Given the description of an element on the screen output the (x, y) to click on. 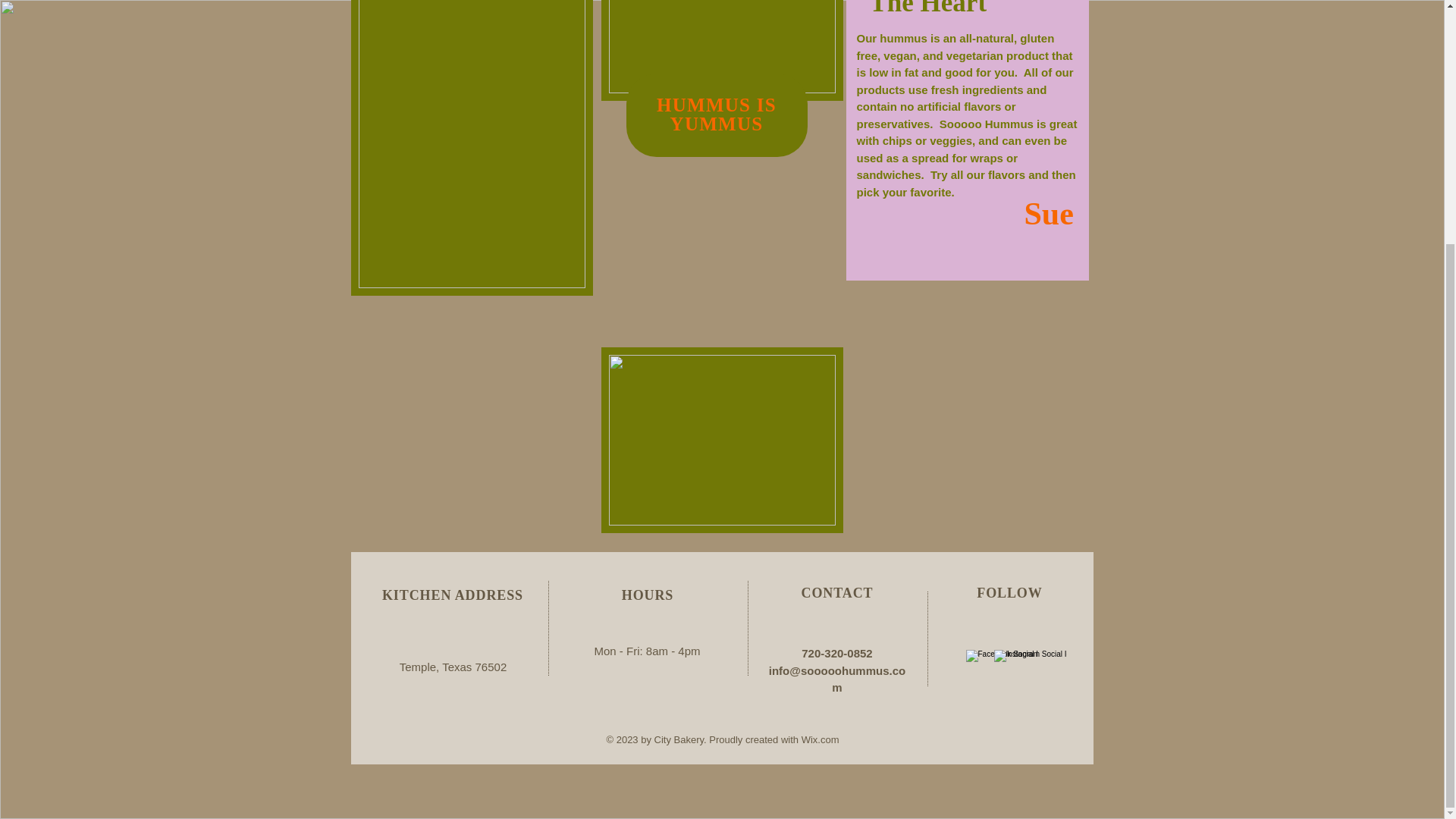
classic-hummus-prep.jpg (721, 440)
Wix.com (821, 738)
hummus-for-cheaters-ingredients.png (721, 50)
